Given the description of an element on the screen output the (x, y) to click on. 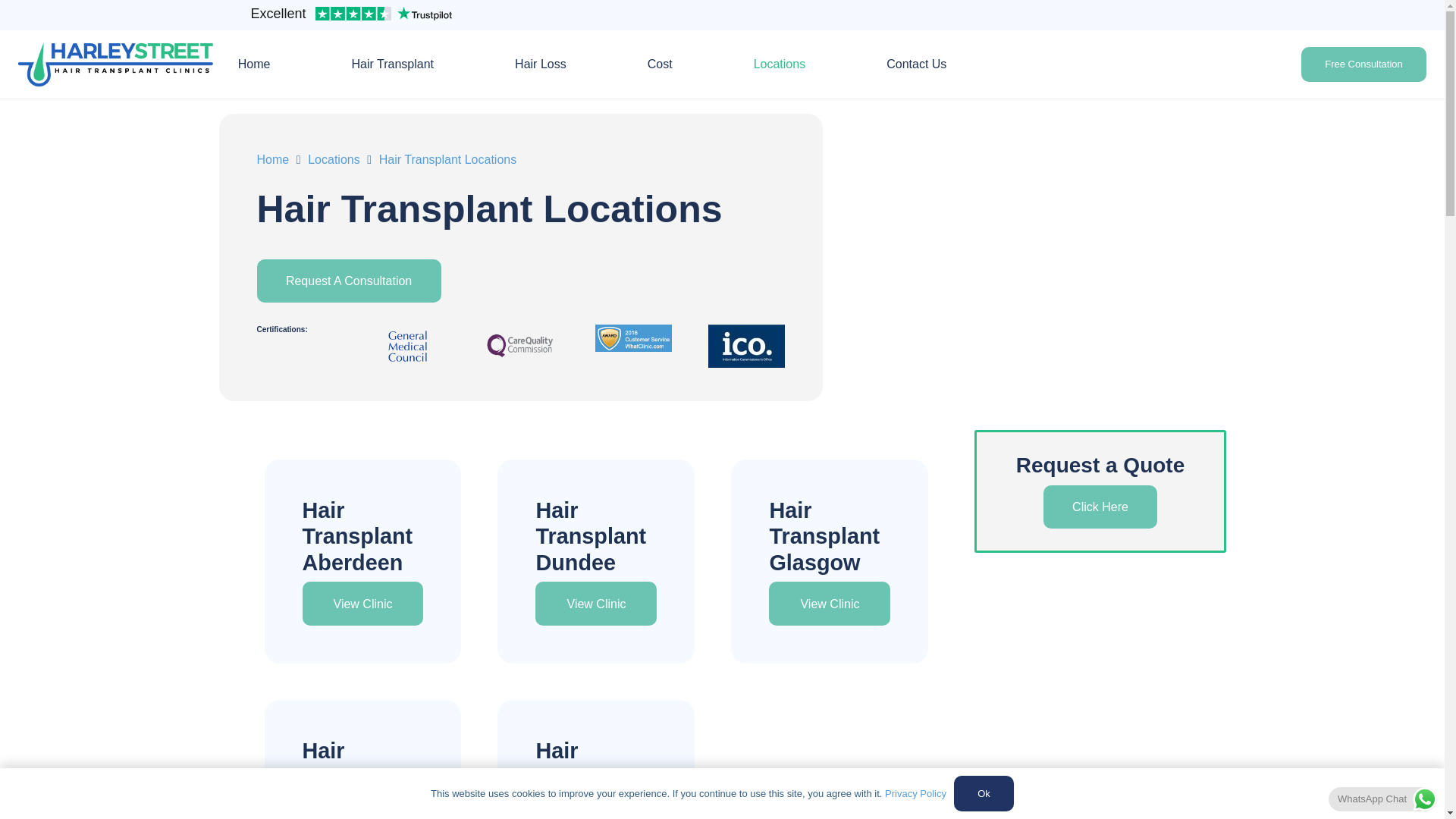
Locations (333, 159)
Customer reviews powered by Trustpilot (349, 14)
Hair Loss (539, 64)
View Clinic (595, 603)
Contact Us (916, 64)
Hair Transplant Stirling (590, 776)
View Clinic (362, 603)
Free Consultation (348, 281)
Locations (779, 64)
Hair Transplant Glasgow (823, 535)
Request A Consultation (348, 281)
Hair Transplant Locations (447, 159)
Hair Transplant Aberdeen (356, 535)
Hair Transplant (392, 64)
Free Consultation (1363, 64)
